Given the description of an element on the screen output the (x, y) to click on. 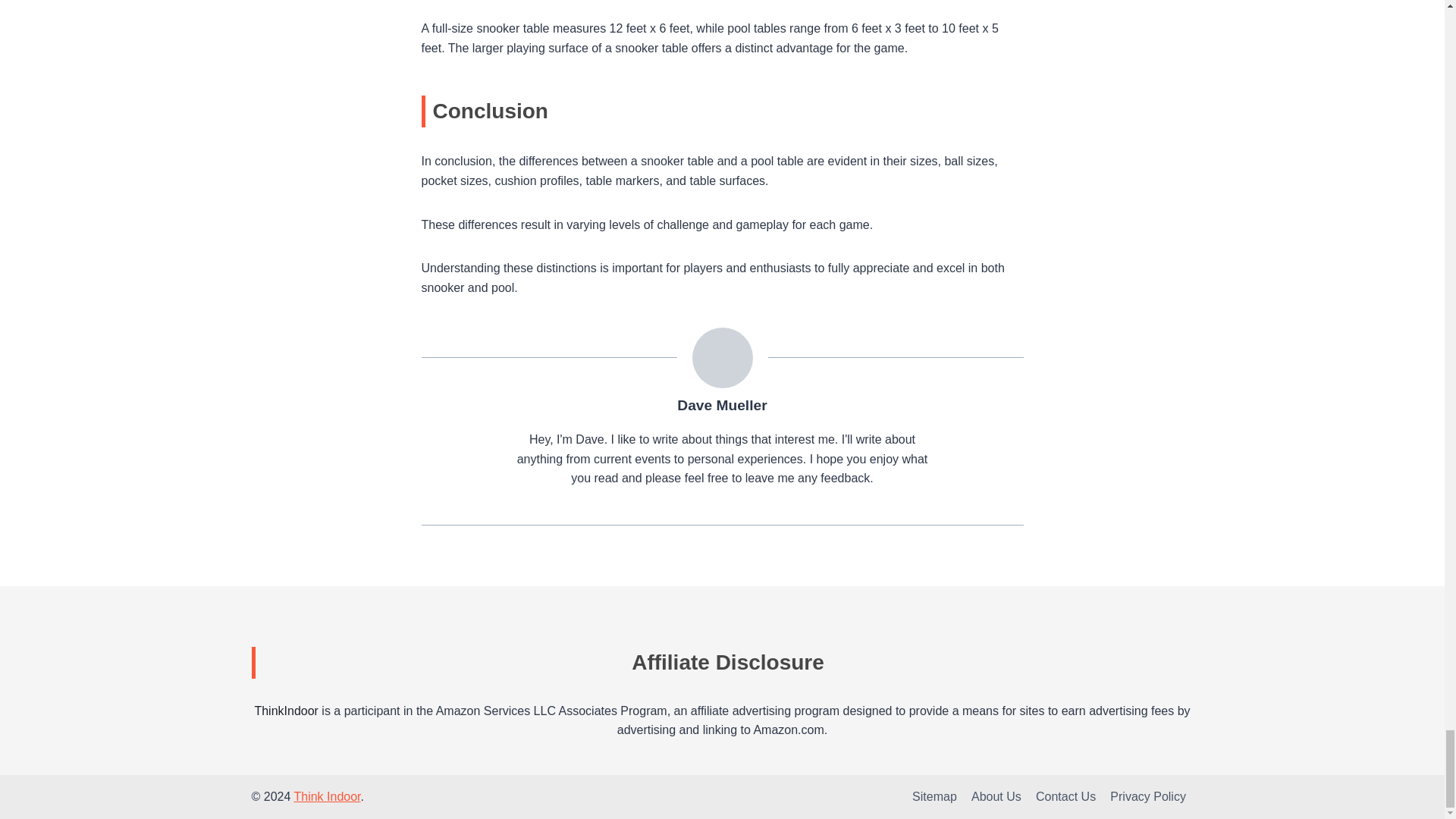
Posts by Dave Mueller (722, 405)
